Given the description of an element on the screen output the (x, y) to click on. 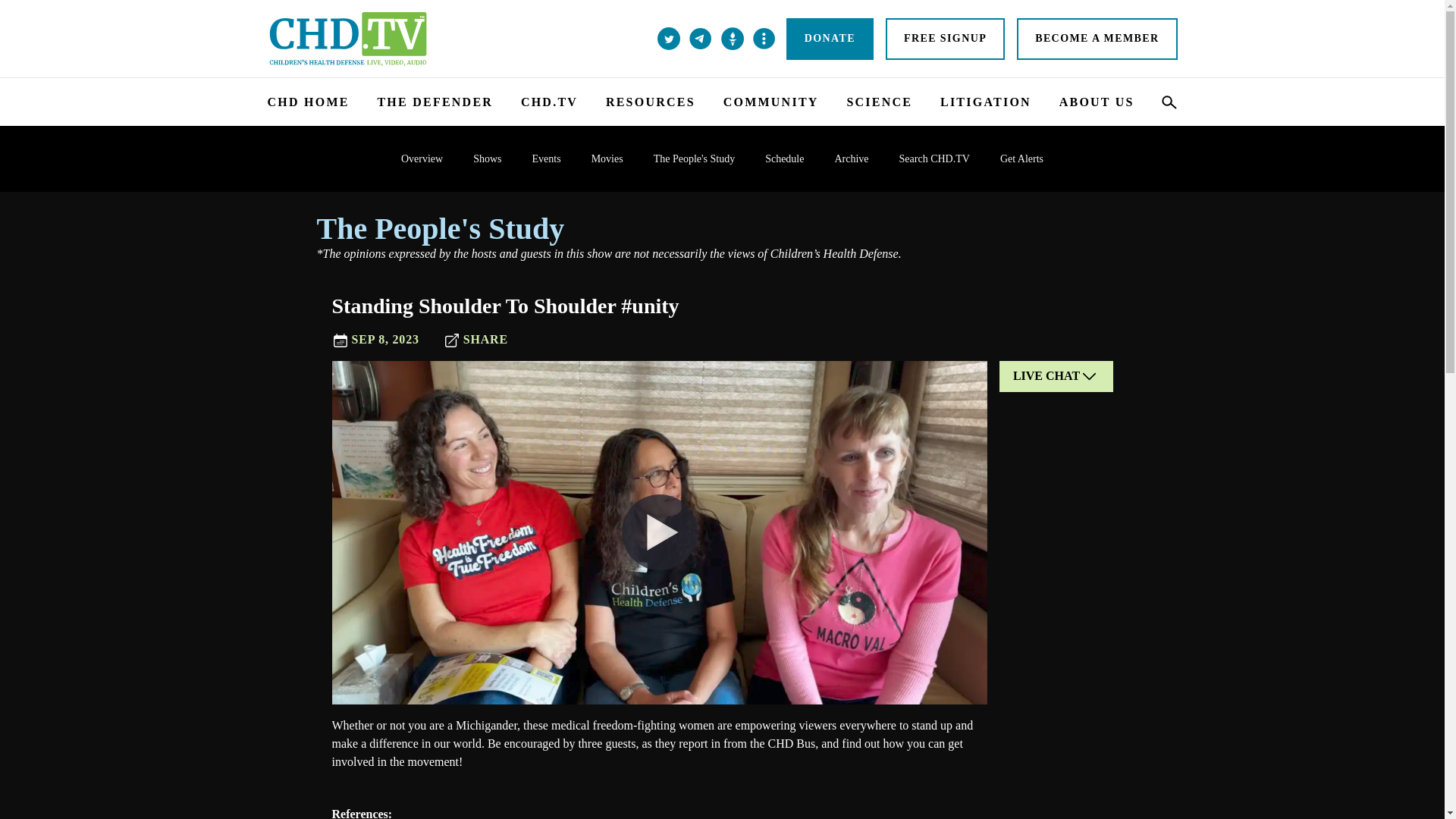
COMMUNITY (770, 102)
BECOME A MEMBER (1095, 38)
THE DEFENDER (435, 102)
SHARE (476, 340)
BECOME A MEMBER (1096, 38)
DONATE (829, 38)
The People's Study (695, 158)
Archive (850, 158)
CHD.TV (549, 102)
CHD HOME (307, 102)
Search CHD.TV (934, 158)
The People's Study (722, 228)
LITIGATION (985, 102)
DONATE (829, 38)
